Given the description of an element on the screen output the (x, y) to click on. 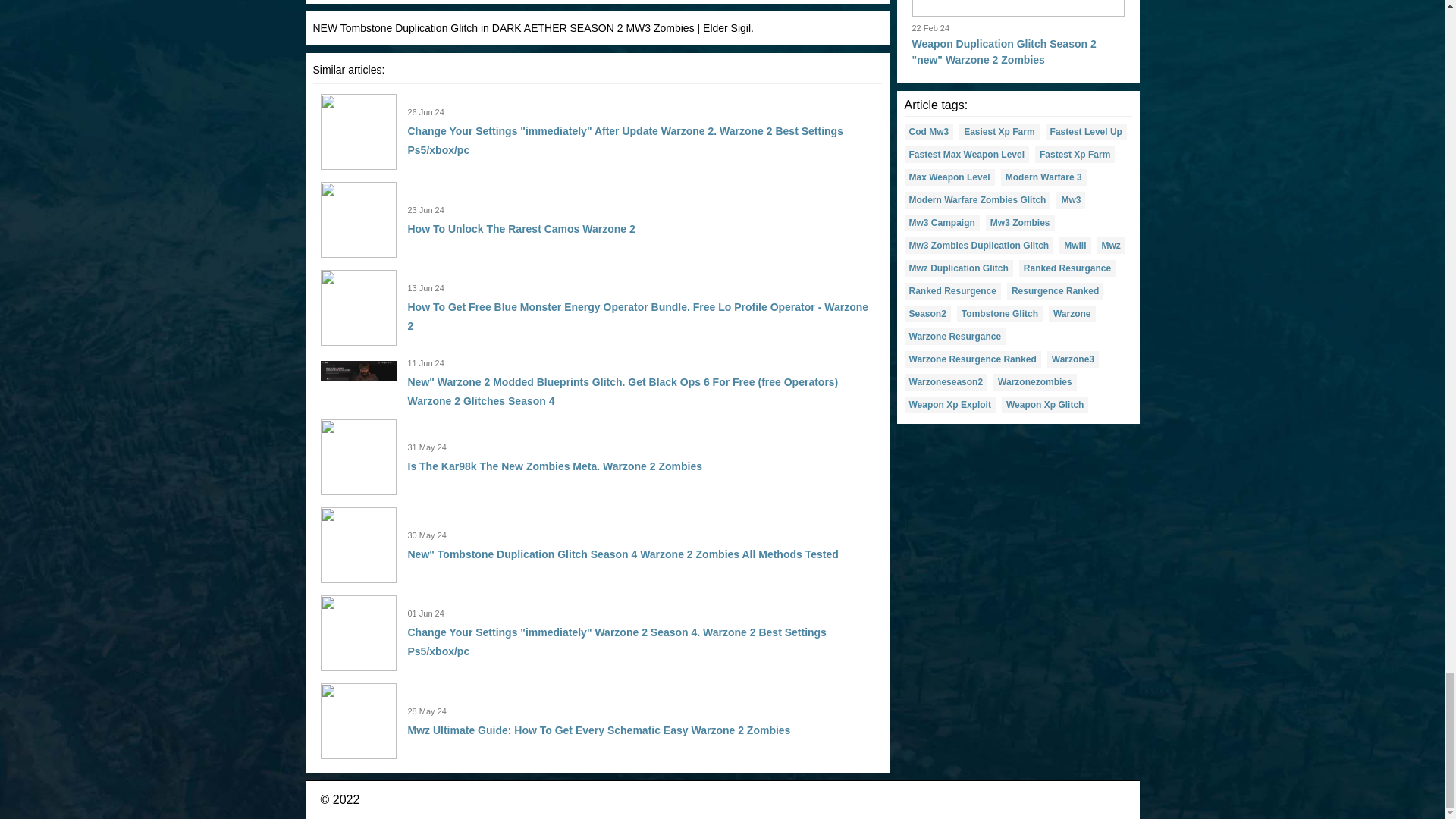
How To Unlock The Rarest Camos Warzone 2 (520, 228)
Is The Kar98k The New Zombies Meta. Warzone 2 Zombies (554, 466)
